Given the description of an element on the screen output the (x, y) to click on. 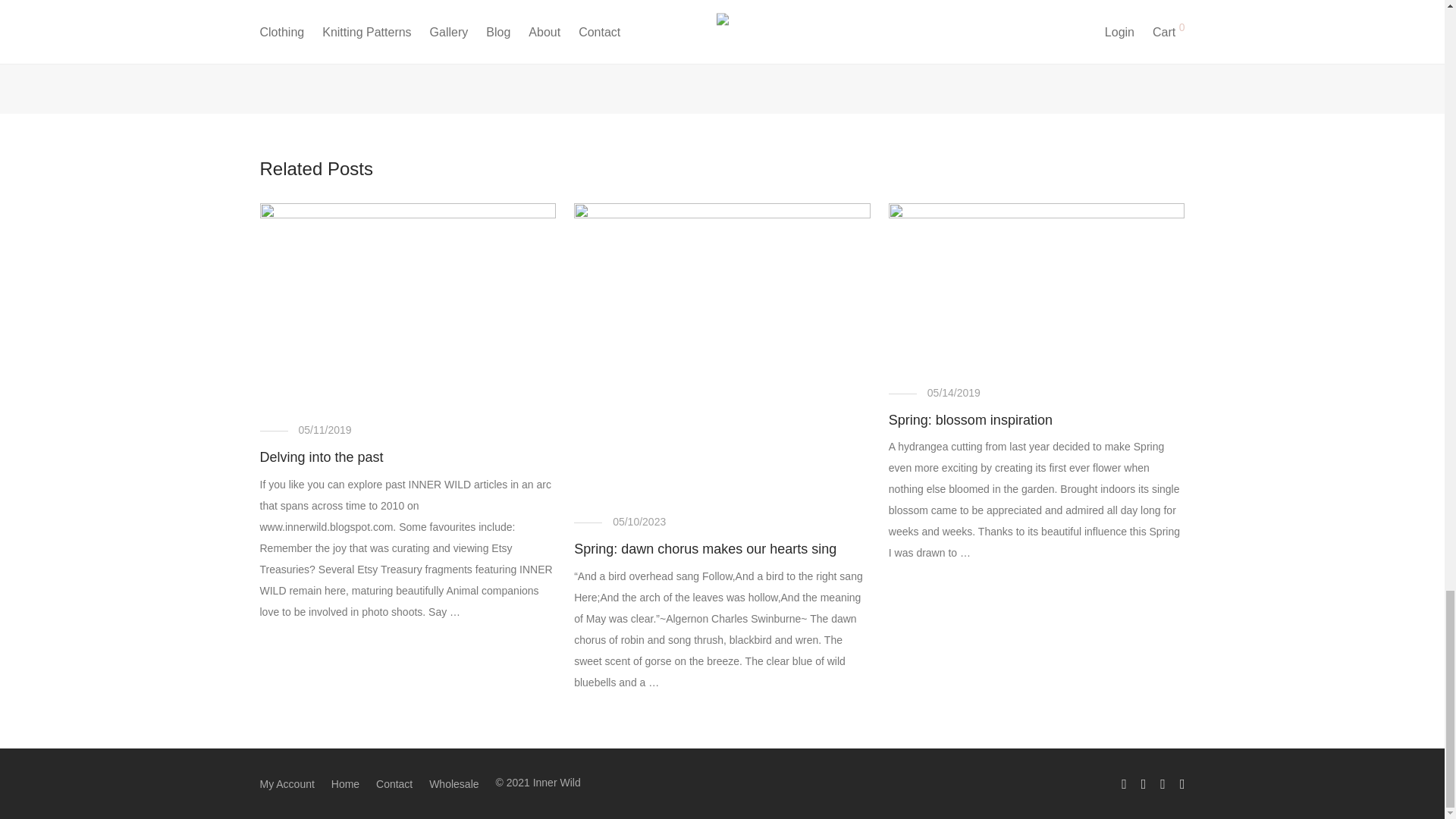
Home (345, 784)
Delving into the past (320, 457)
Spring: dawn chorus makes our hearts sing (704, 548)
Post Comment (470, 44)
Wholesale (454, 784)
Contact (393, 784)
Post Comment (470, 44)
Spring: blossom inspiration (970, 419)
My Account (286, 784)
